Given the description of an element on the screen output the (x, y) to click on. 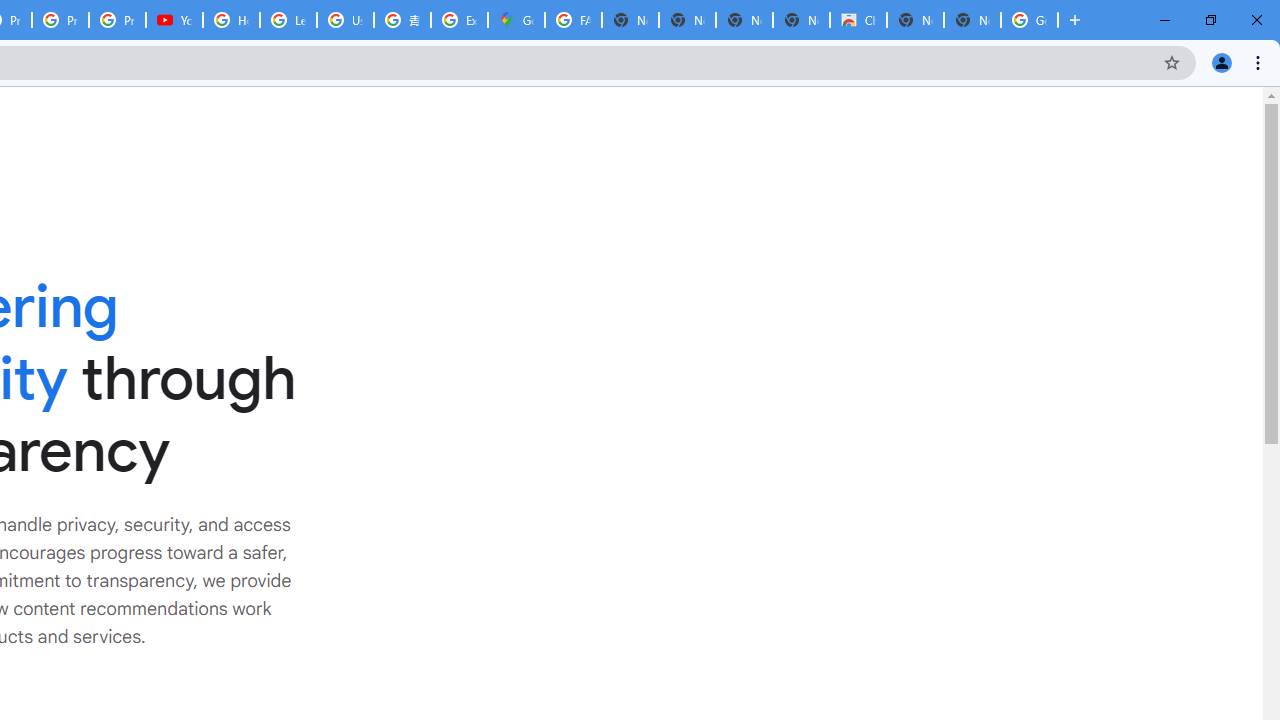
Chrome Web Store (858, 20)
YouTube (174, 20)
